Given the description of an element on the screen output the (x, y) to click on. 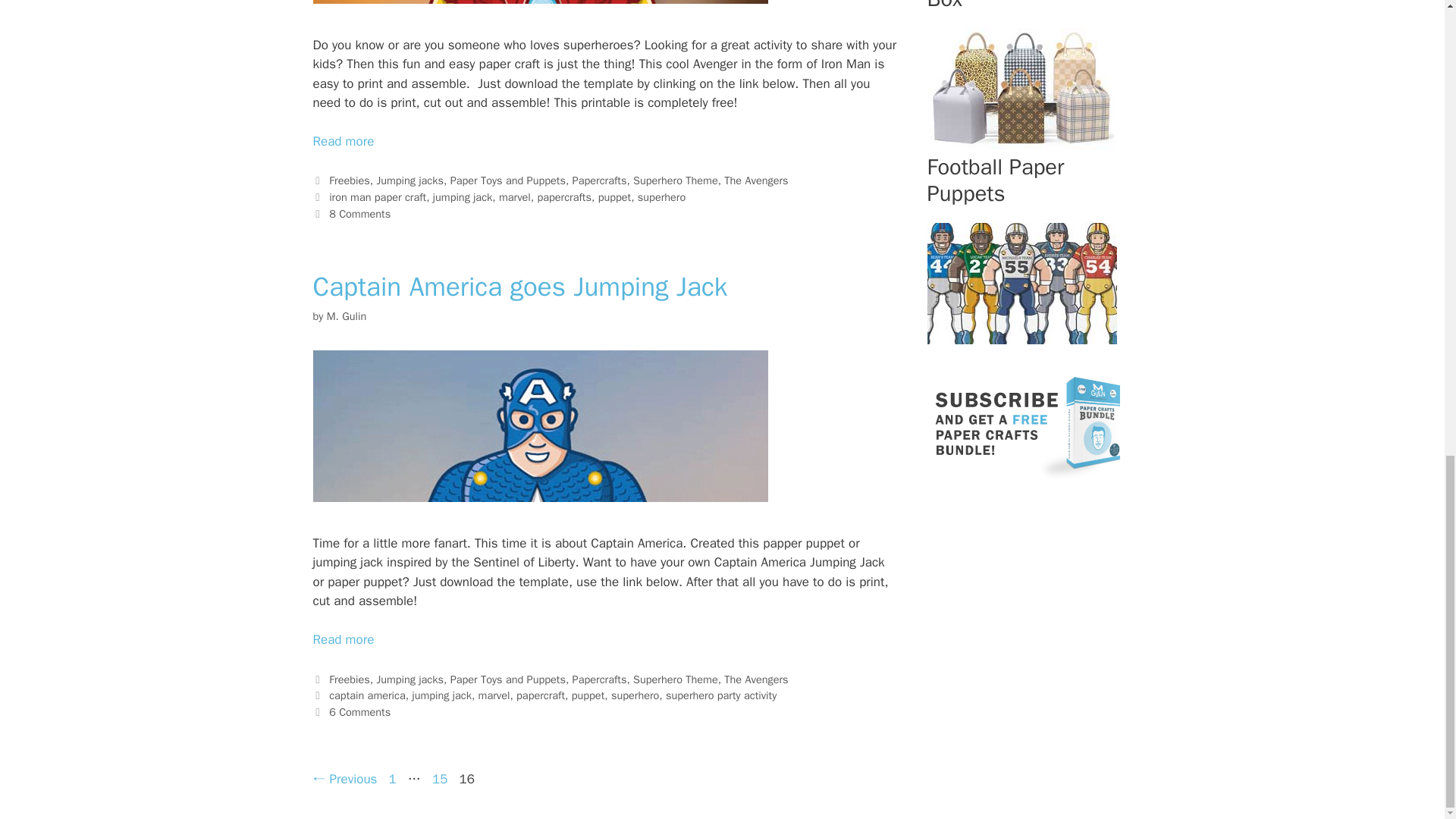
Captain America goes Jumping Jack (343, 639)
Read more (343, 141)
View all posts by M. Gulin (346, 315)
